Given the description of an element on the screen output the (x, y) to click on. 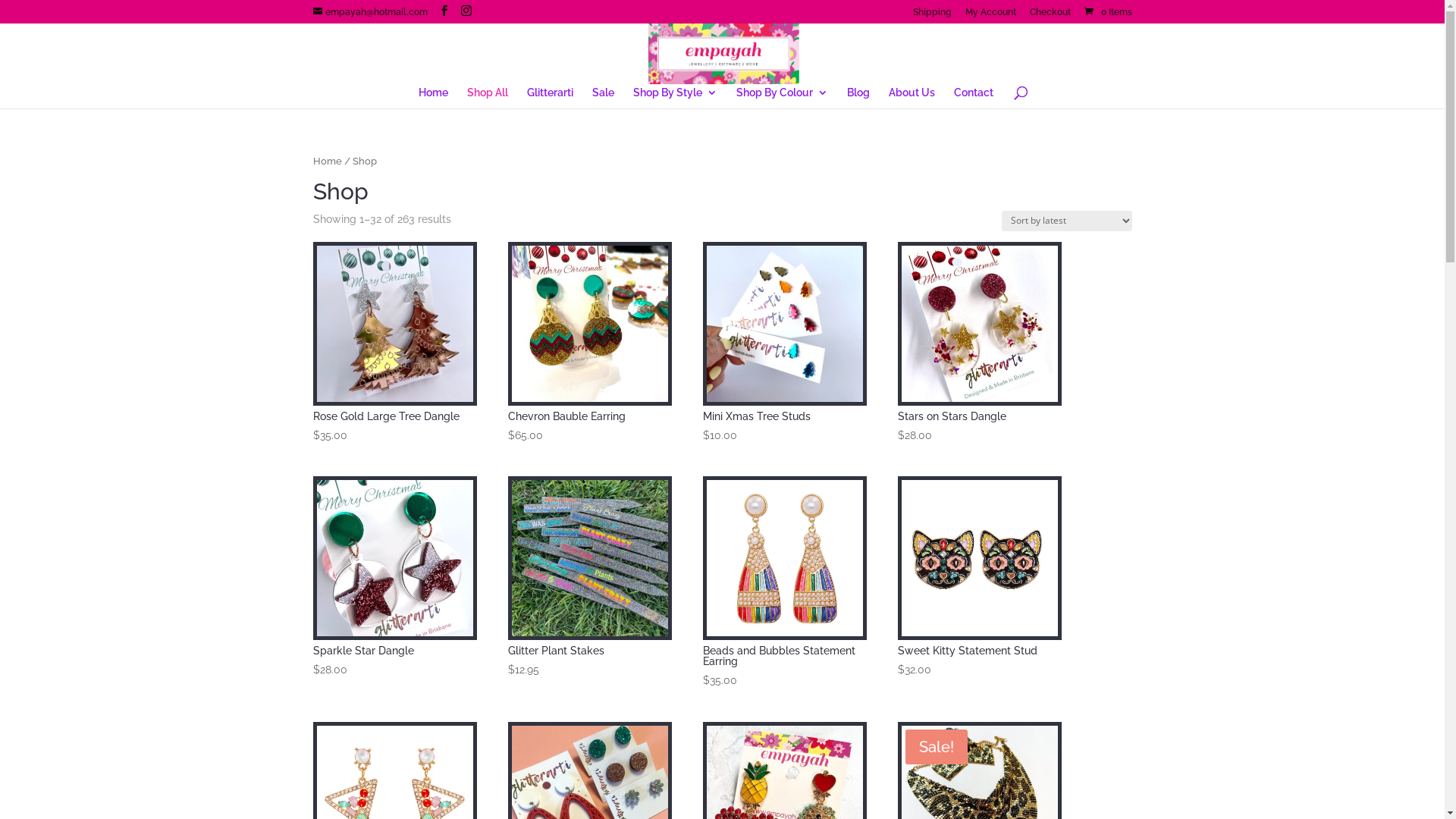
About Us Element type: text (911, 97)
Mini Xmas Tree Studs
$10.00 Element type: text (784, 343)
Chevron Bauble Earring
$65.00 Element type: text (589, 343)
Shop By Colour Element type: text (782, 97)
Sparkle Star Dangle
$28.00 Element type: text (394, 577)
0 Items Element type: text (1106, 11)
Sale Element type: text (603, 97)
Glitter Plant Stakes
$12.95 Element type: text (589, 577)
Shop All Element type: text (487, 97)
Rose Gold Large Tree Dangle
$35.00 Element type: text (394, 343)
Home Element type: text (326, 160)
Glitterarti Element type: text (550, 97)
Contact Element type: text (973, 97)
Beads and Bubbles Statement Earring
$35.00 Element type: text (784, 583)
Blog Element type: text (858, 97)
Stars on Stars Dangle
$28.00 Element type: text (979, 343)
Checkout Element type: text (1049, 15)
Shop By Style Element type: text (675, 97)
Home Element type: text (433, 97)
Shipping Element type: text (932, 15)
Sweet Kitty Statement Stud
$32.00 Element type: text (979, 577)
My Account Element type: text (989, 15)
empayah@hotmail.com Element type: text (369, 11)
